Given the description of an element on the screen output the (x, y) to click on. 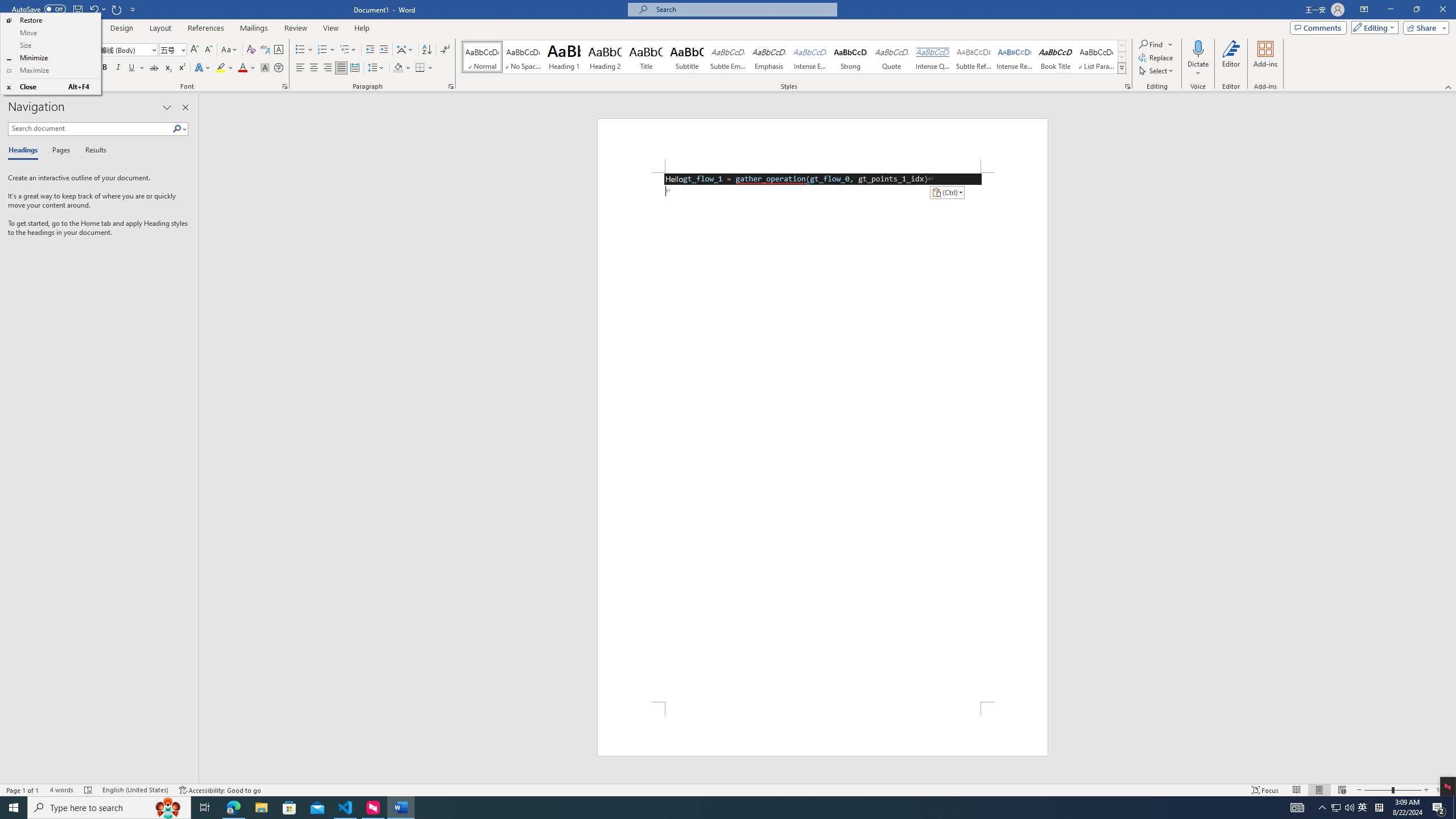
Strong (849, 56)
Emphasis (768, 56)
Size (50, 45)
AutomationID: QuickStylesGallery (794, 56)
Action: Paste alternatives (946, 192)
